Given the description of an element on the screen output the (x, y) to click on. 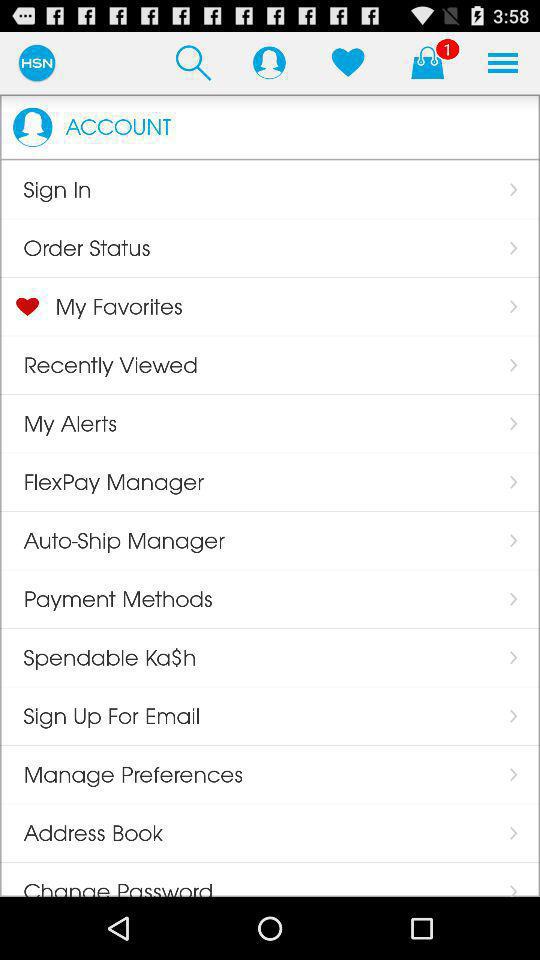
flip until sign in (45, 189)
